Given the description of an element on the screen output the (x, y) to click on. 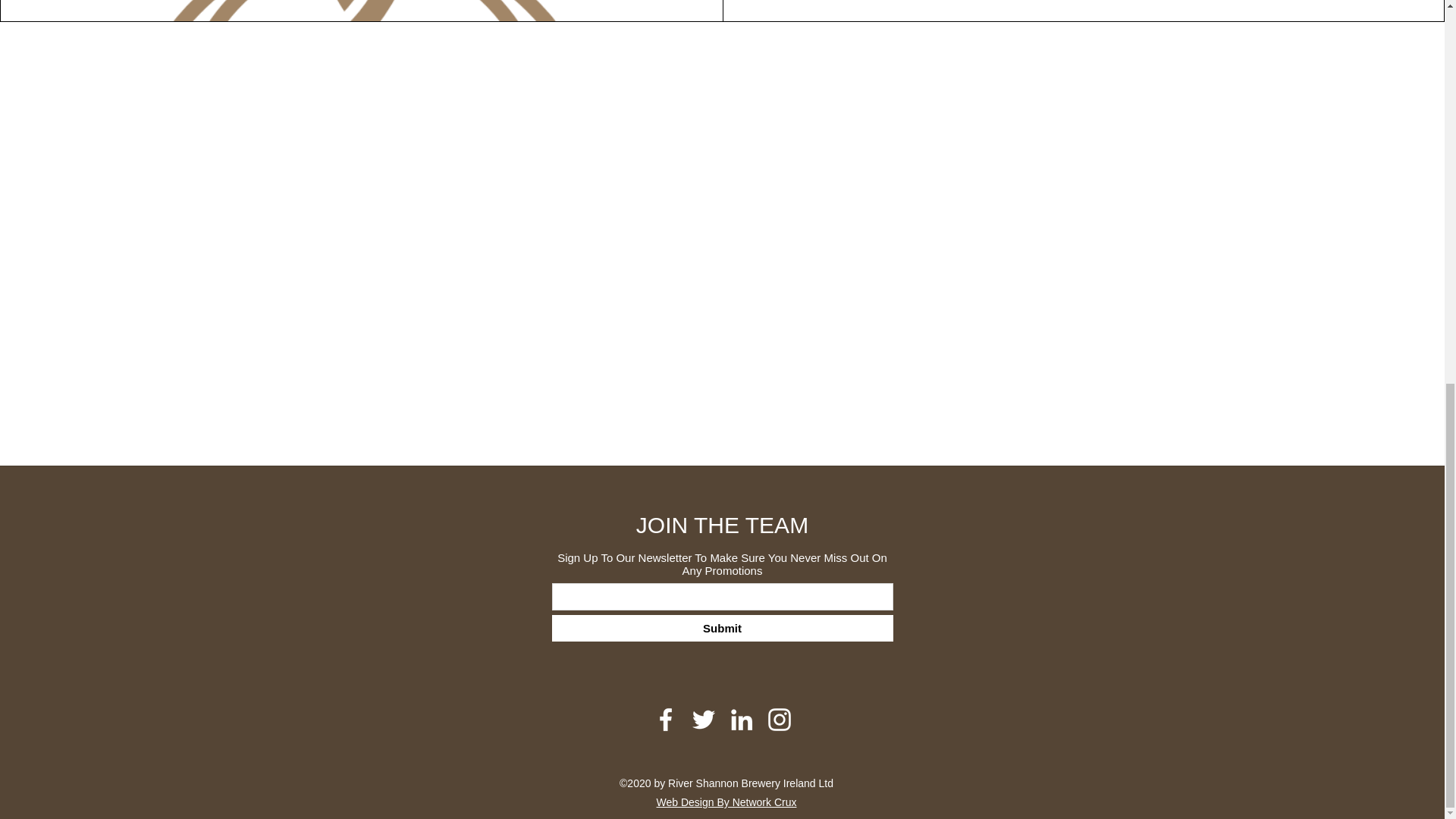
Web Design By Network Crux (726, 802)
Submit (722, 628)
